Given the description of an element on the screen output the (x, y) to click on. 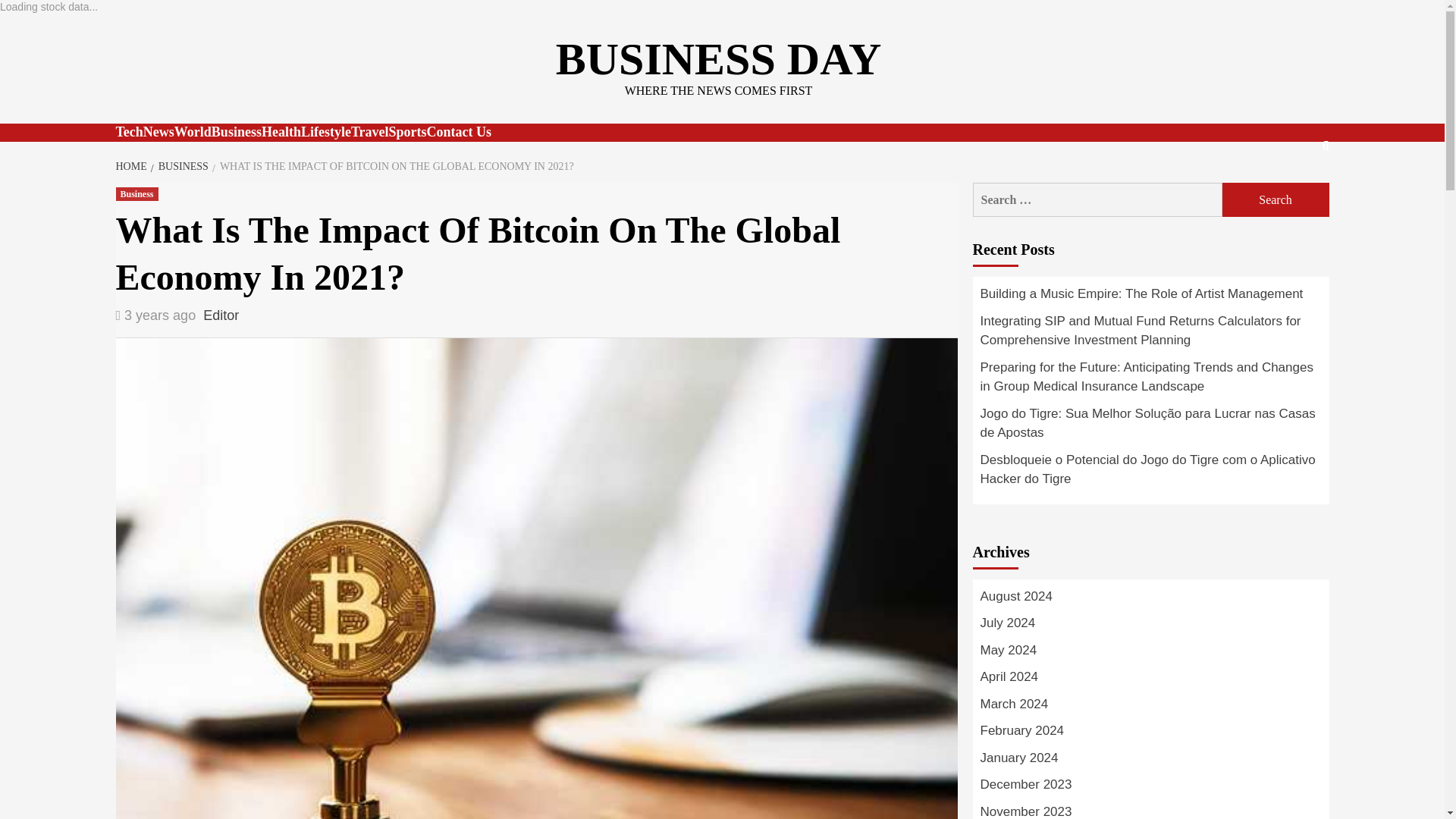
Search (1276, 199)
Travel (369, 131)
Business (136, 193)
BUSINESS (181, 165)
BUSINESS DAY (719, 59)
HOME (132, 165)
World (192, 131)
Editor (220, 314)
Health (281, 131)
Search (1276, 199)
